Given the description of an element on the screen output the (x, y) to click on. 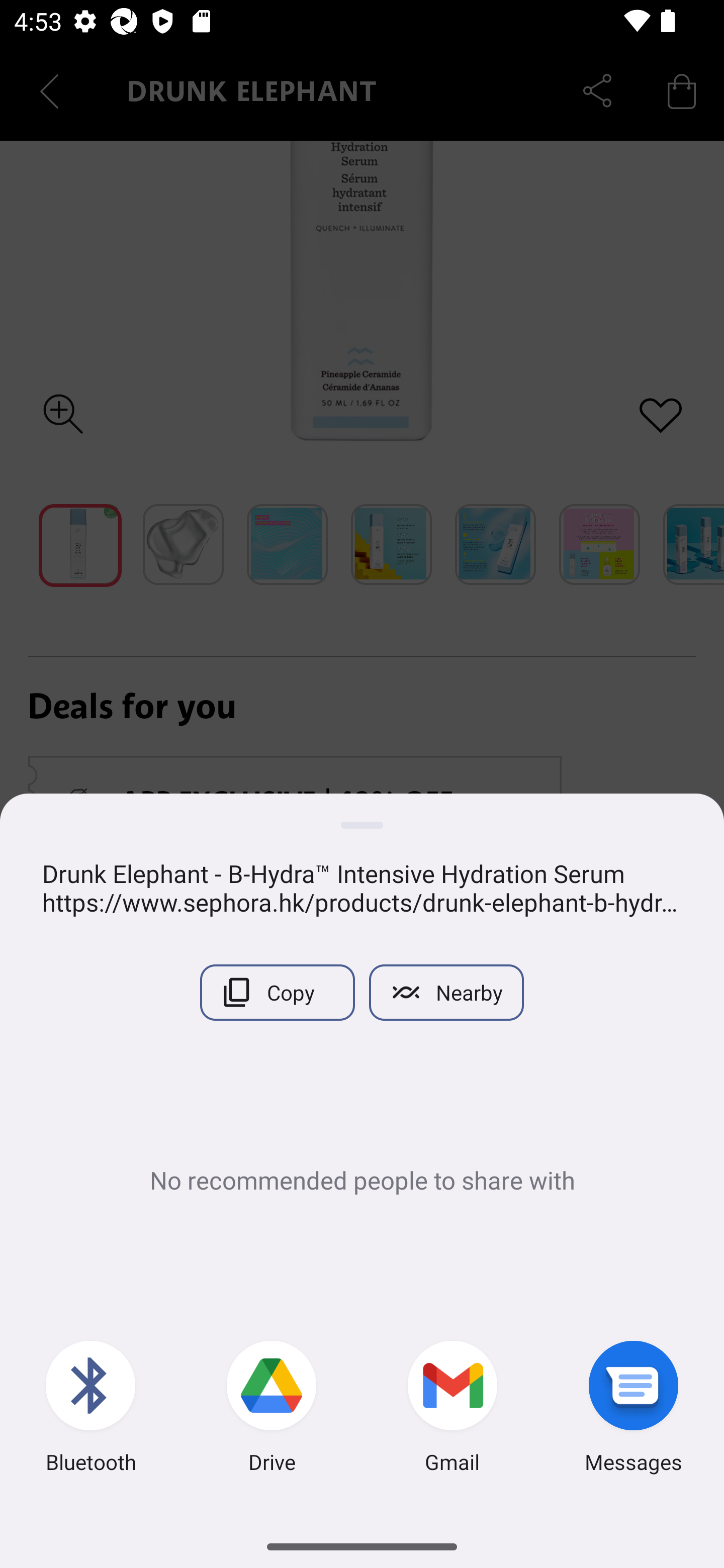
Copy (276, 992)
Nearby (446, 992)
Bluetooth (90, 1409)
Drive (271, 1409)
Gmail (452, 1409)
Messages (633, 1409)
